Given the description of an element on the screen output the (x, y) to click on. 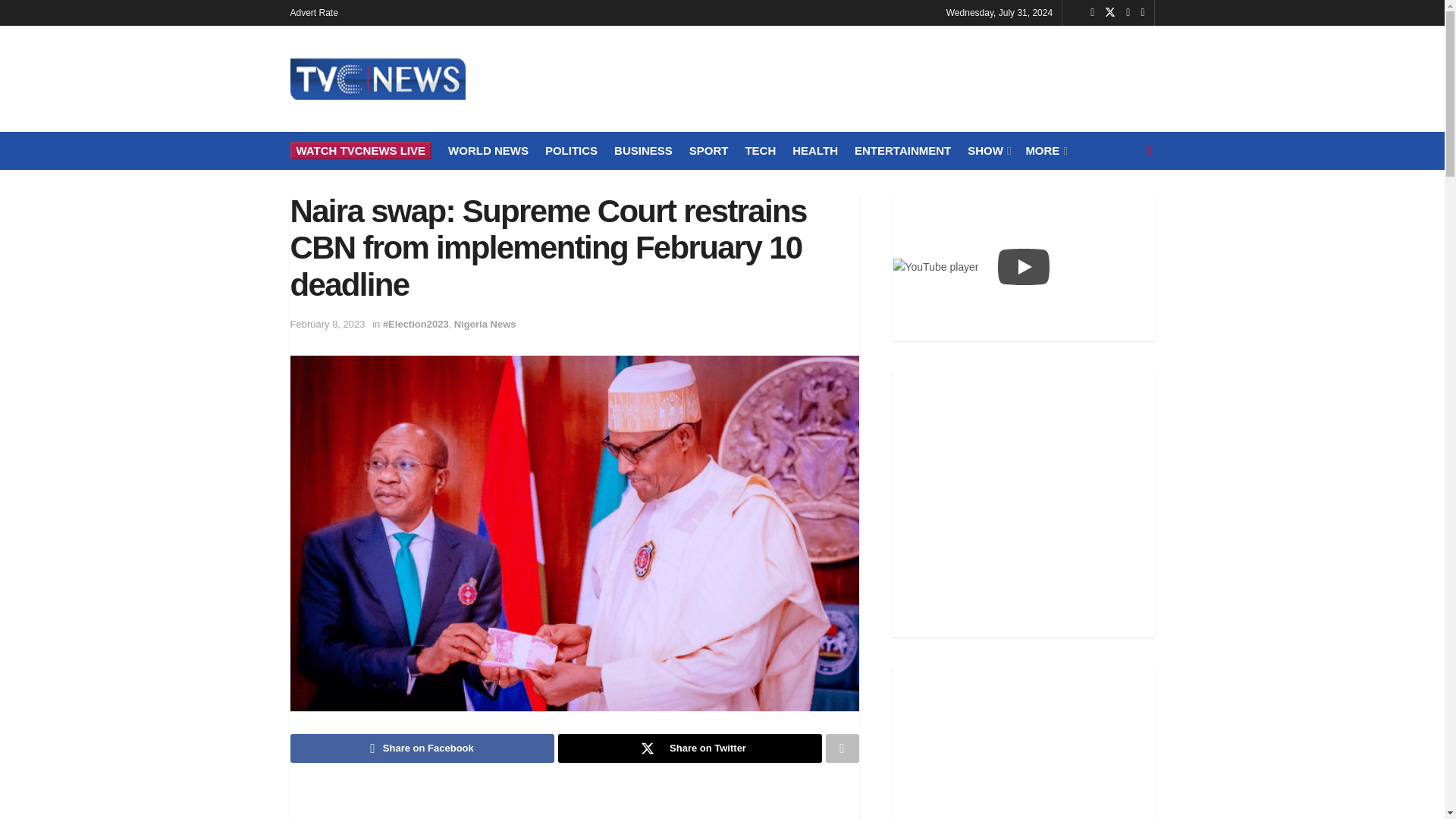
WATCH TVCNEWS LIVE (359, 149)
POLITICS (570, 150)
ENTERTAINMENT (902, 150)
HEALTH (815, 150)
SPORT (708, 150)
TECH (760, 150)
Advert Rate (313, 12)
BUSINESS (643, 150)
WORLD NEWS (488, 150)
MORE (1044, 150)
SHOW (988, 150)
WATCH TVCNEWS LIVE (359, 150)
